Given the description of an element on the screen output the (x, y) to click on. 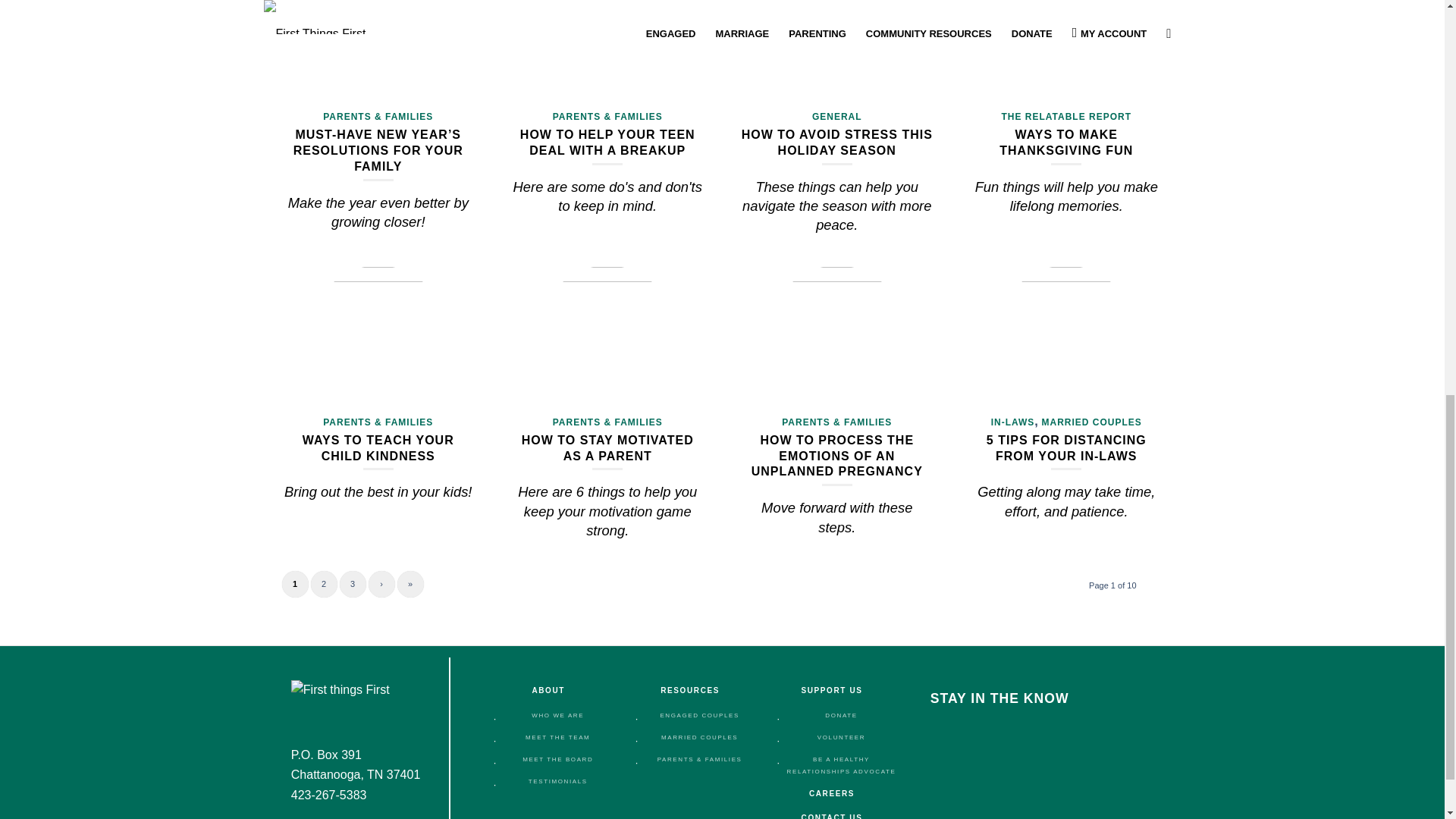
Permanent Link: Ways To Make Thanksgiving Fun (1065, 142)
Permanent Link: Ways to Teach Your Child Kindness (378, 448)
Permanent Link: How to Help Your Teen Deal With a Breakup (607, 142)
Permanent Link: How To Avoid Stress This Holiday Season (837, 142)
HOW TO HELP YOUR TEEN DEAL WITH A BREAKUP (607, 142)
Permanent Link: How to Stay Motivated as a Parent (607, 448)
